Given the description of an element on the screen output the (x, y) to click on. 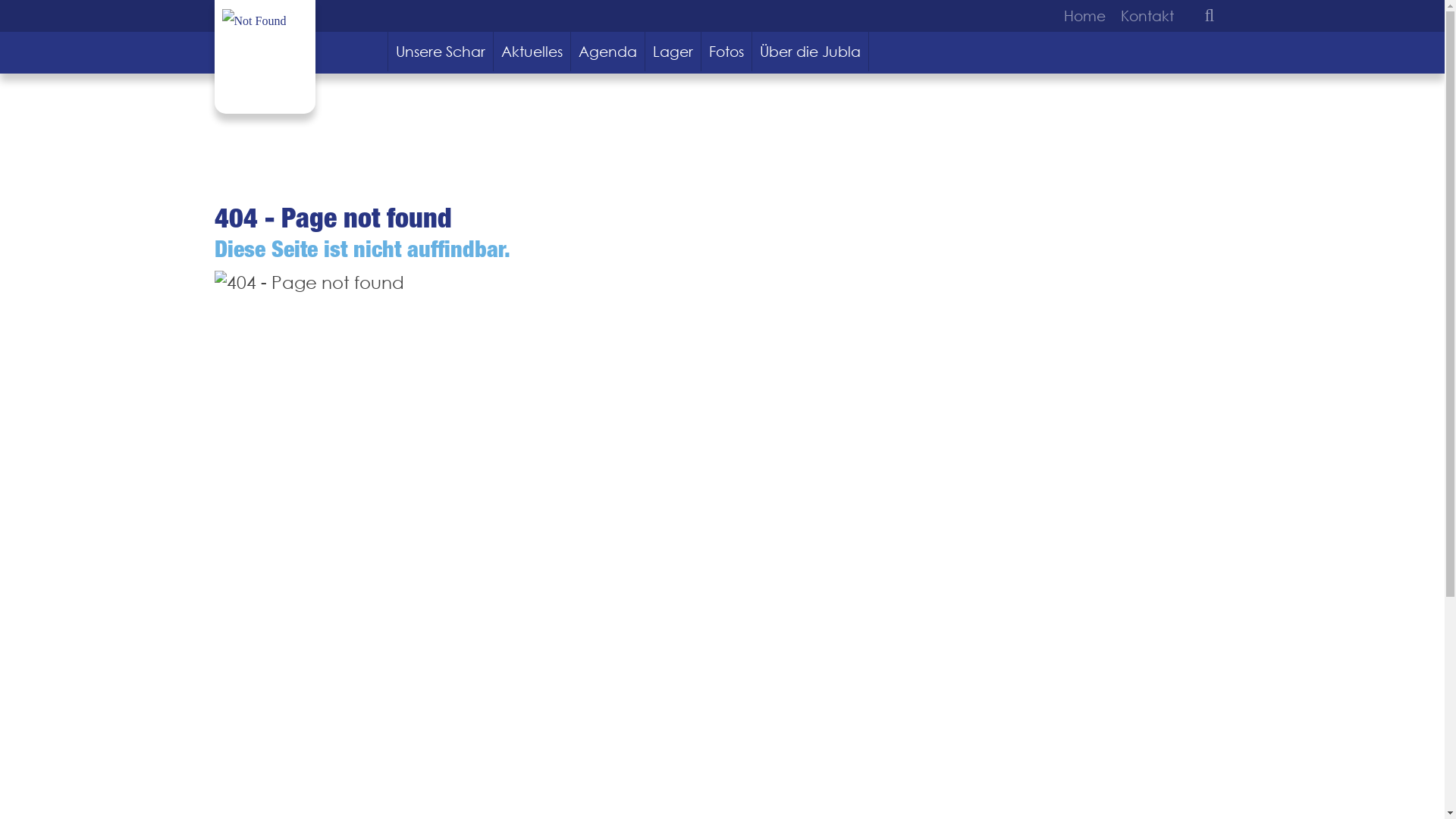
Agenda Element type: text (608, 51)
Lager Element type: text (673, 51)
Not Found Element type: hover (253, 21)
Aktuelles Element type: text (532, 51)
Home Element type: text (1087, 15)
Fotos Element type: text (726, 51)
404 - Page not found Element type: hover (308, 282)
Unsere Schar Element type: text (440, 51)
Kontakt Element type: text (1143, 15)
